Given the description of an element on the screen output the (x, y) to click on. 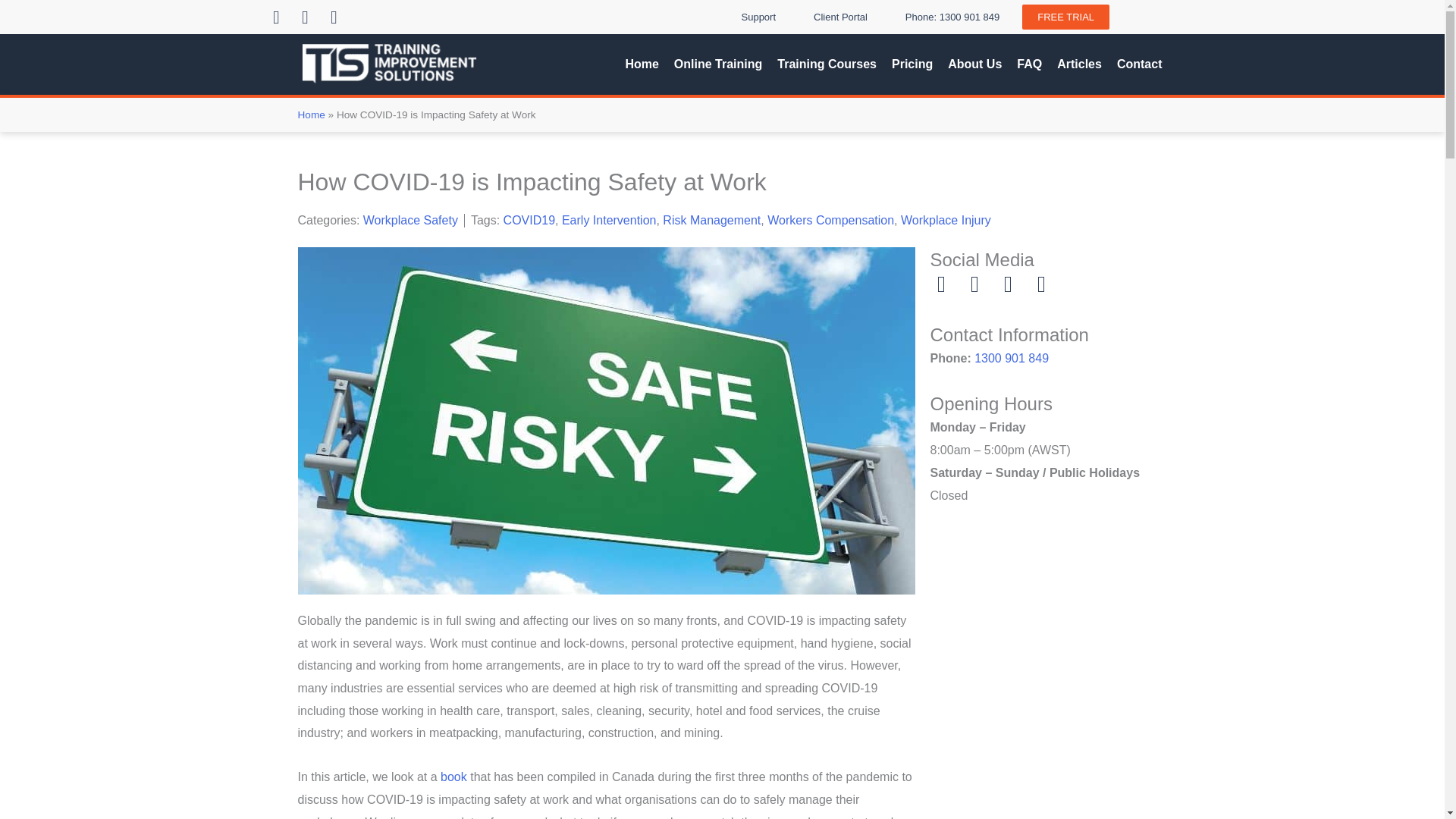
Online Training (717, 64)
Client Portal (839, 16)
Youtube-square (333, 16)
Support (759, 16)
Phone: 1300 901 849 (951, 16)
Facebook-square (304, 16)
FREE TRIAL (1065, 16)
Linkedin (275, 16)
Training Courses (826, 64)
